Given the description of an element on the screen output the (x, y) to click on. 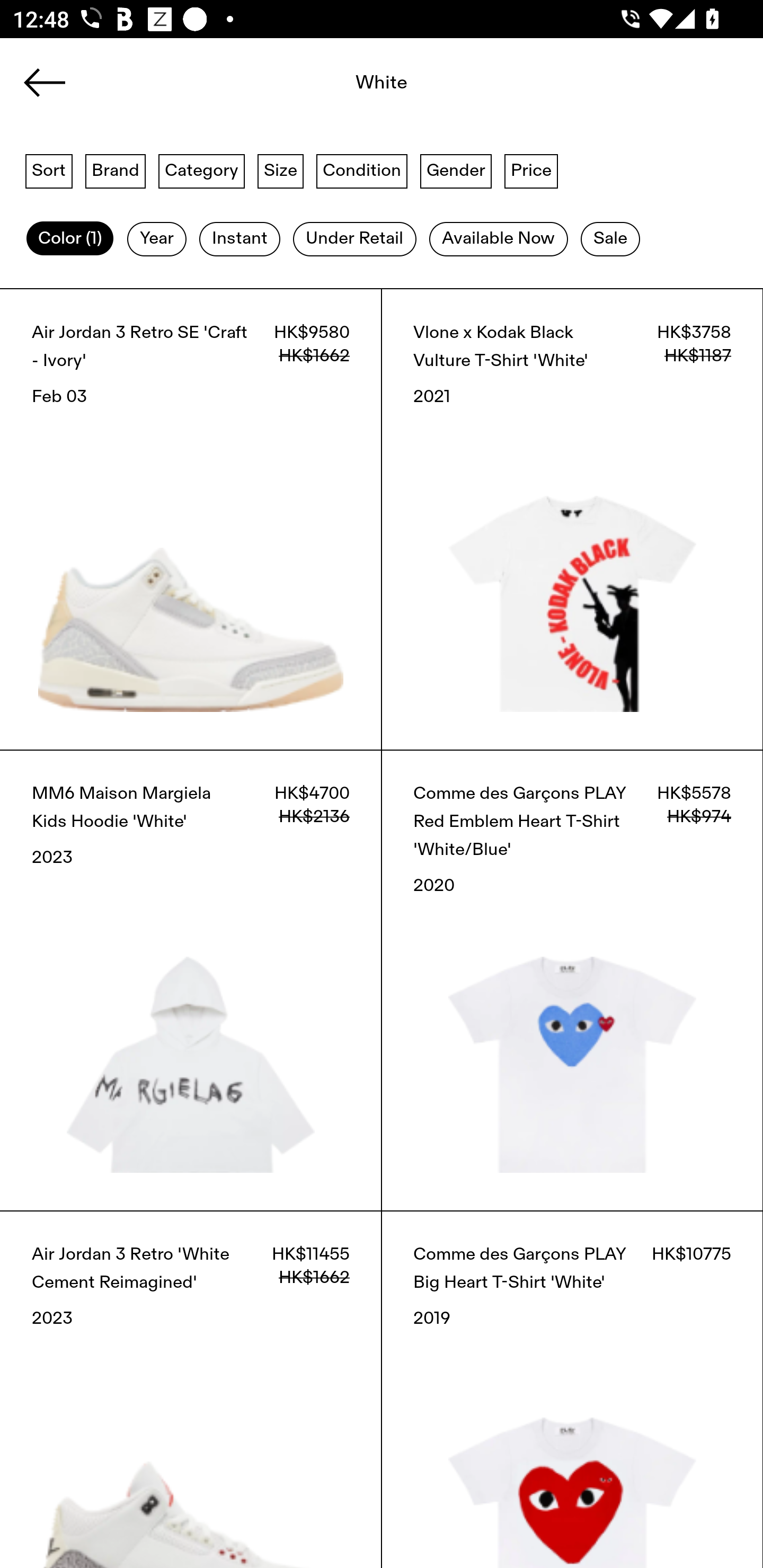
Sort (48, 170)
Brand (115, 170)
Category (201, 170)
Size (280, 170)
Condition (361, 170)
Gender (455, 170)
Price (530, 170)
Color (1) (69, 239)
Year (156, 239)
Instant (239, 239)
Under Retail (354, 239)
Available Now (497, 239)
Sale (610, 239)
